Given the description of an element on the screen output the (x, y) to click on. 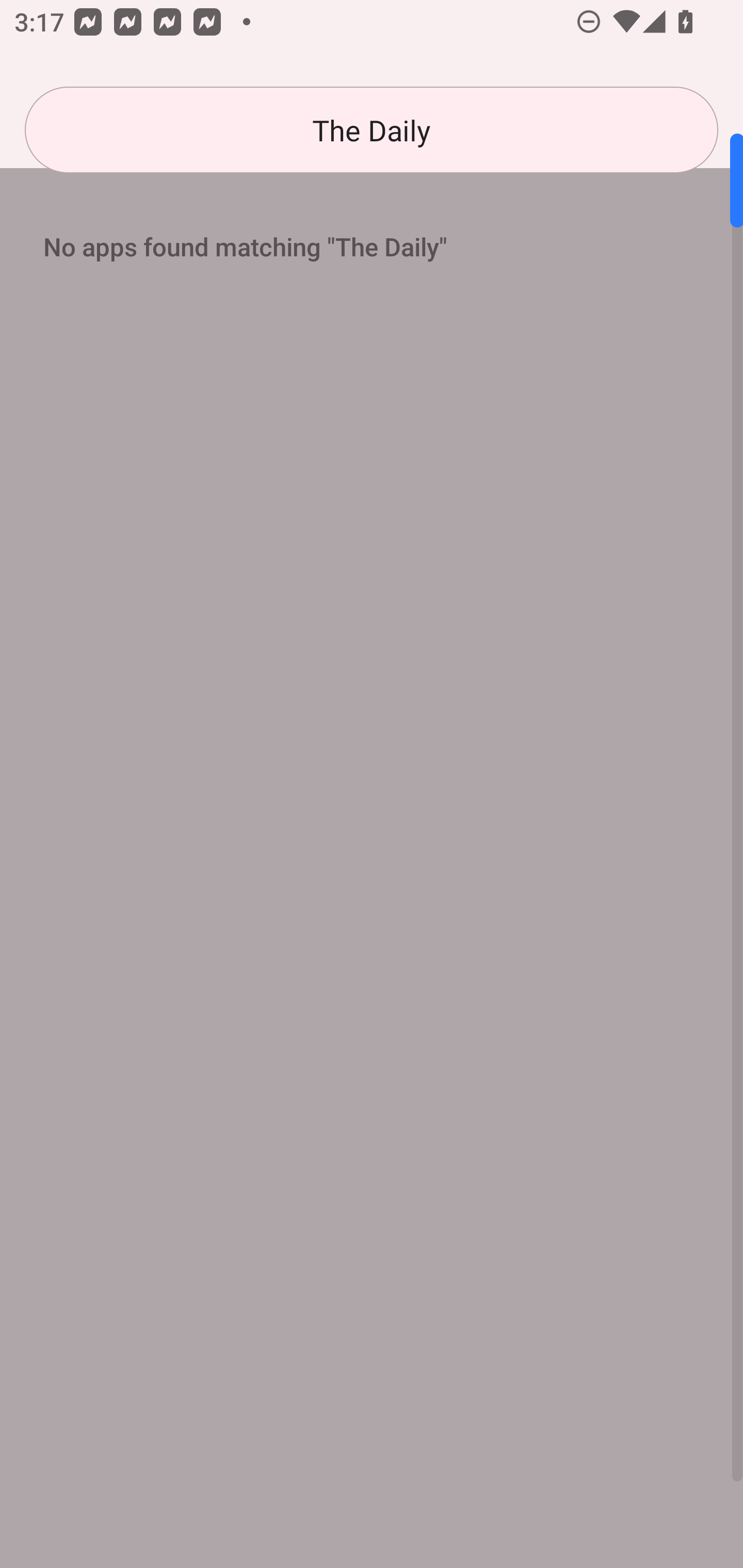
The Daily (371, 130)
